Given the description of an element on the screen output the (x, y) to click on. 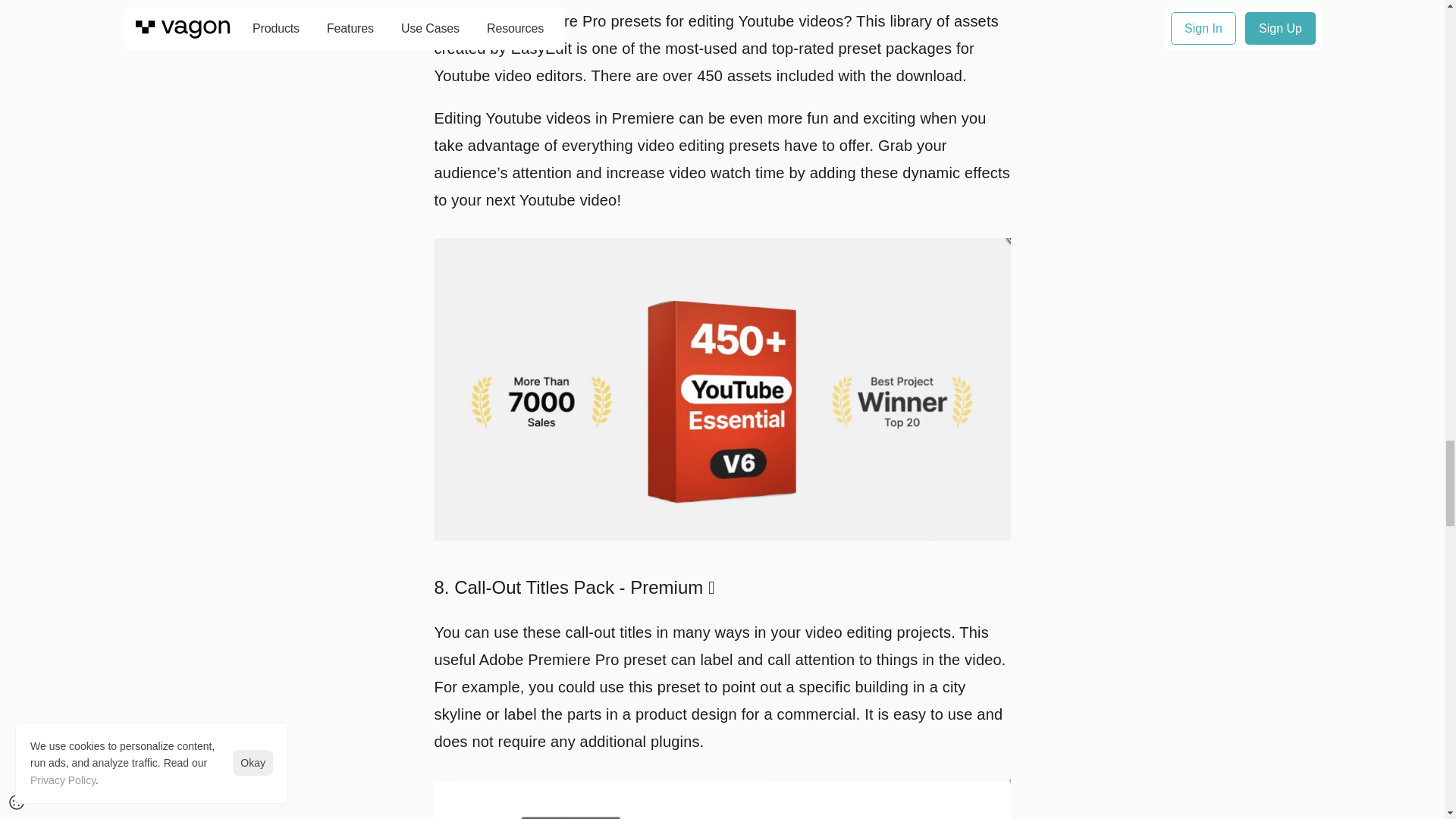
Premiere (643, 117)
